Given the description of an element on the screen output the (x, y) to click on. 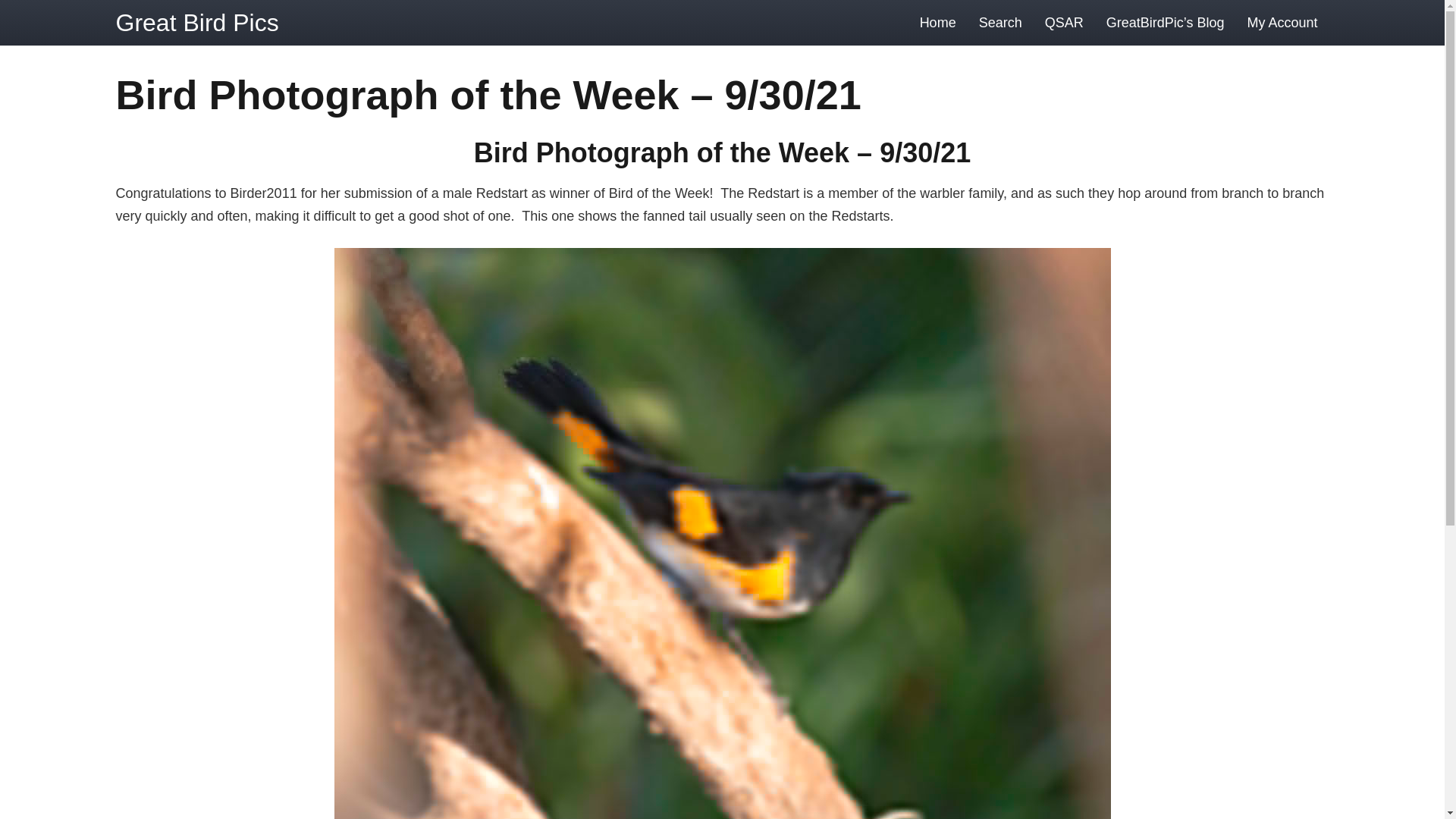
QSAR (1063, 22)
Great Bird Pics (196, 22)
Home (938, 22)
My Account (1280, 22)
Search (1000, 22)
